Given the description of an element on the screen output the (x, y) to click on. 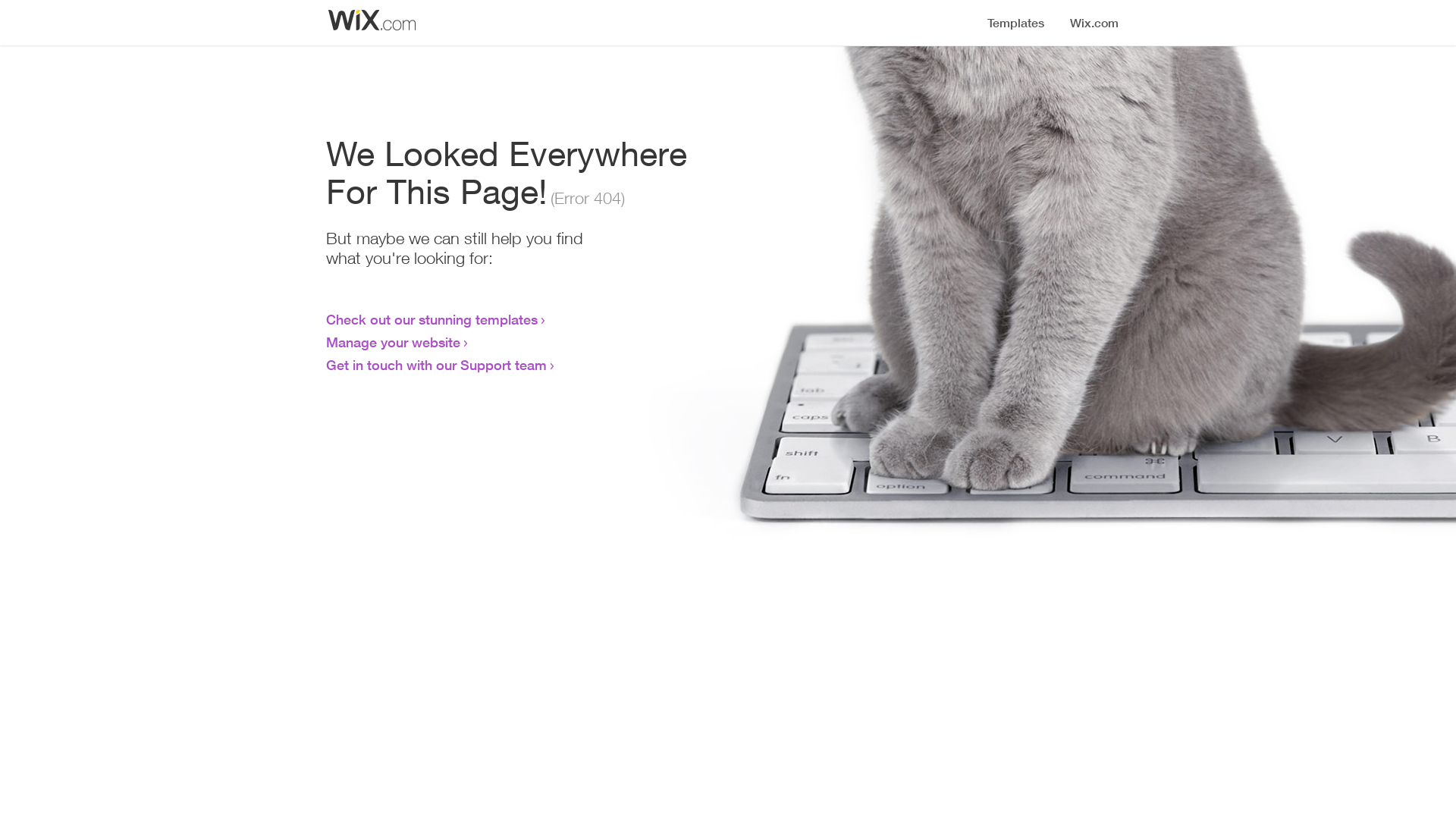
Get in touch with our Support team Element type: text (436, 364)
Check out our stunning templates Element type: text (431, 318)
Manage your website Element type: text (393, 341)
